Given the description of an element on the screen output the (x, y) to click on. 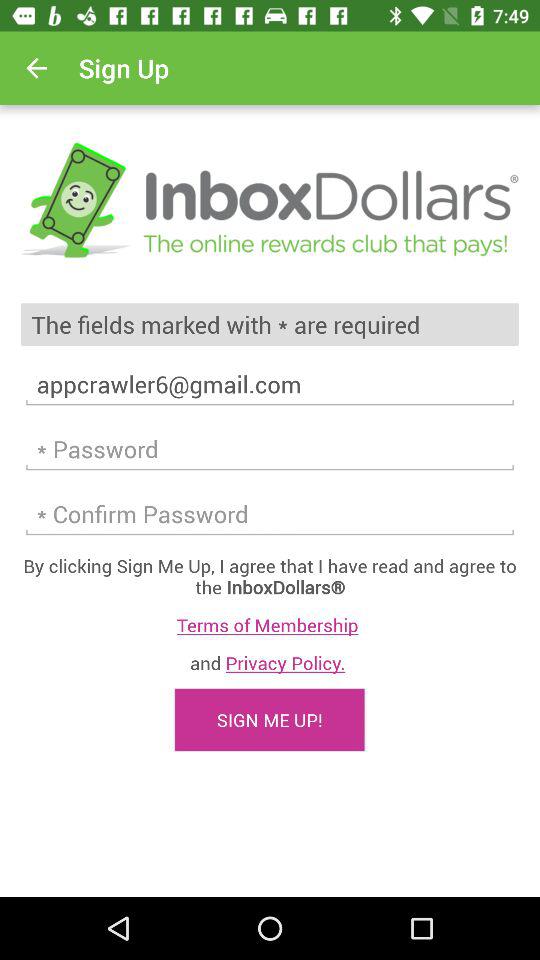
enter password (270, 449)
